Given the description of an element on the screen output the (x, y) to click on. 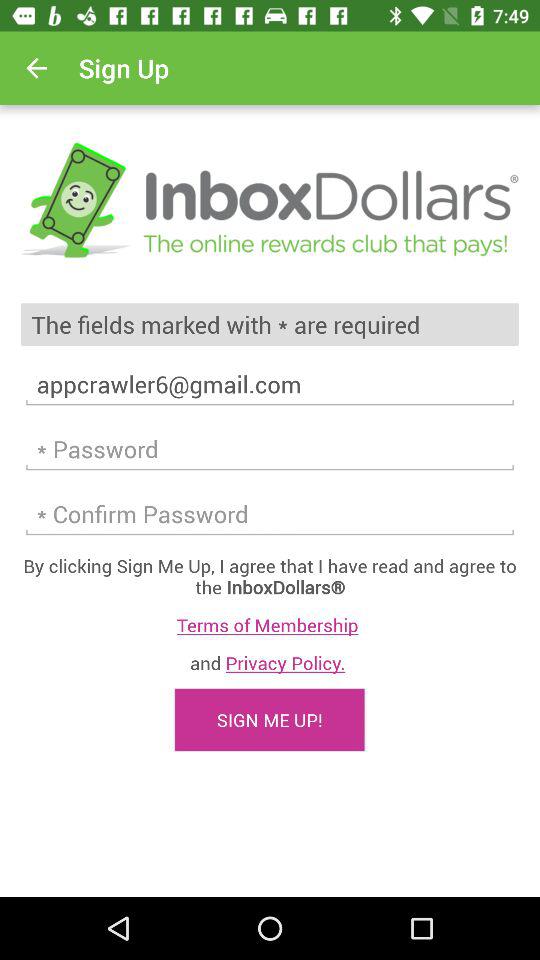
enter password (270, 449)
